Given the description of an element on the screen output the (x, y) to click on. 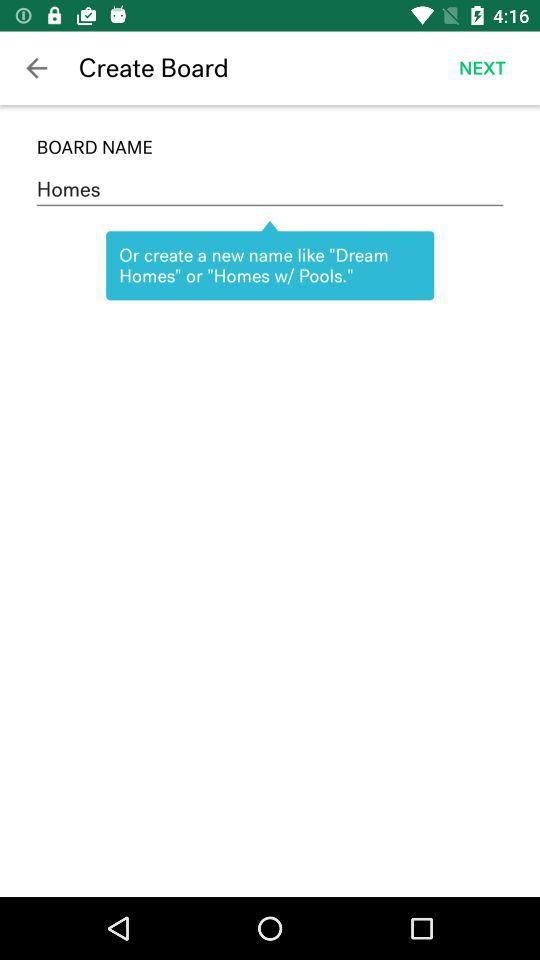
choose the app next to the create board item (482, 68)
